Given the description of an element on the screen output the (x, y) to click on. 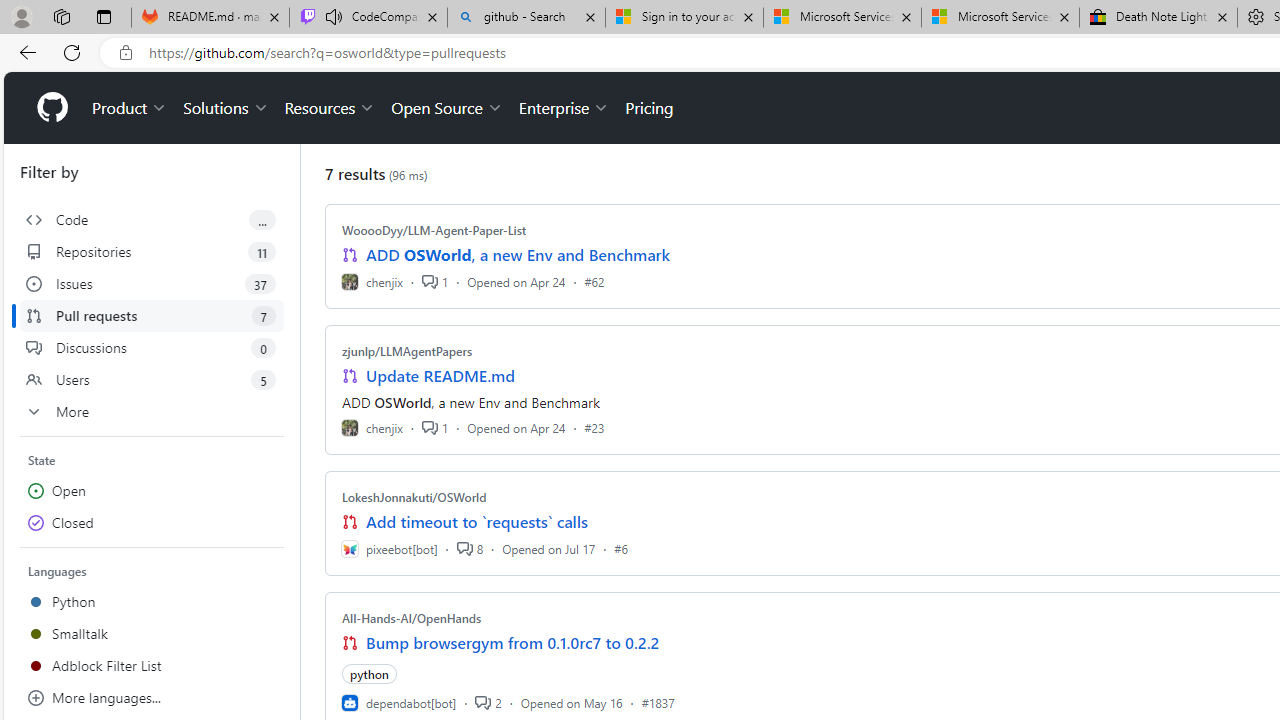
Open Source (446, 107)
Product (130, 107)
Homepage (51, 107)
Resources (330, 107)
